Given the description of an element on the screen output the (x, y) to click on. 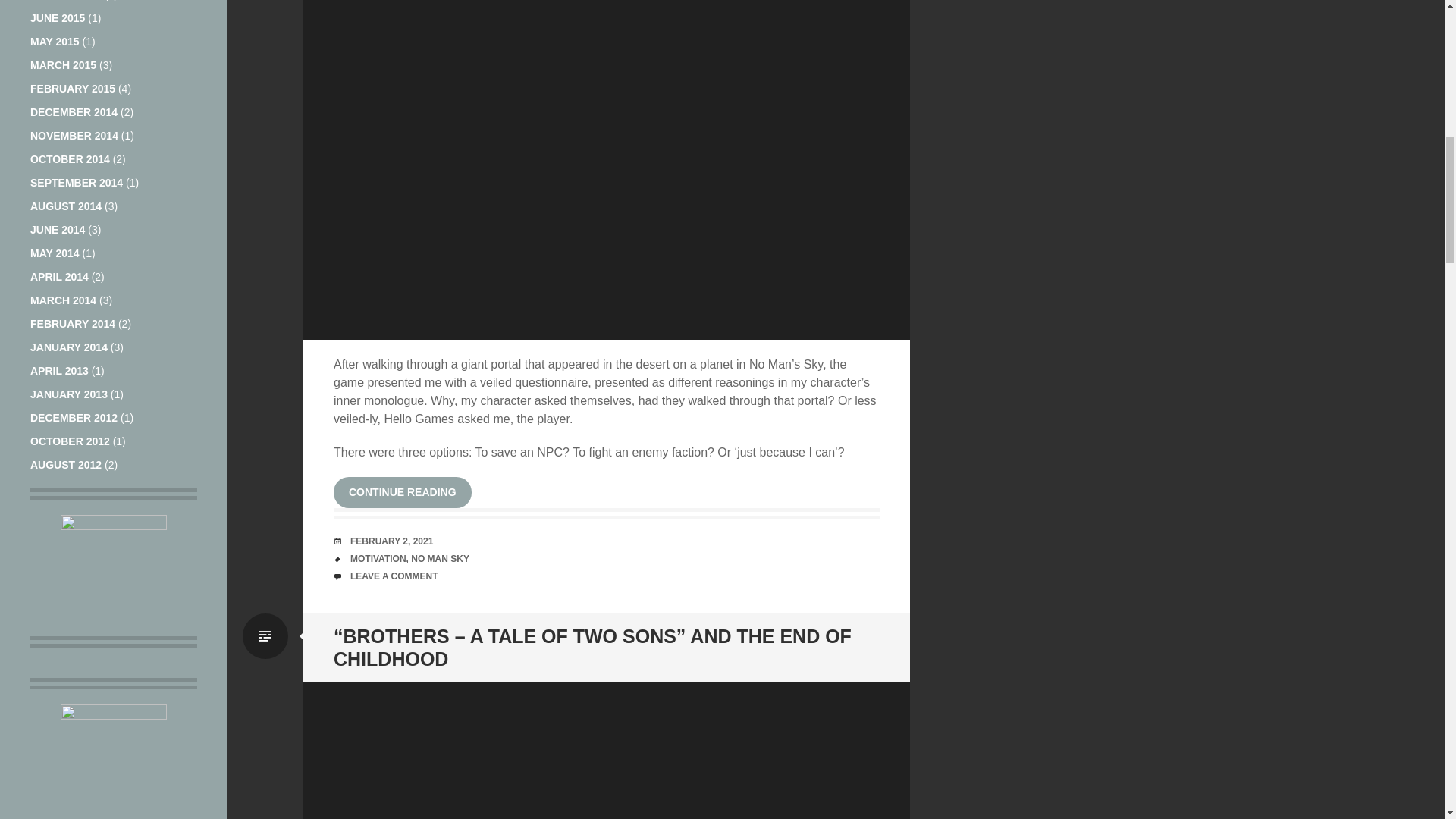
JANUARY 2013 (68, 394)
FEBRUARY 2014 (72, 323)
SEPTEMBER 2014 (76, 182)
JUNE 2014 (57, 229)
AUGUST 2014 (65, 205)
APRIL 2013 (59, 370)
DECEMBER 2014 (73, 111)
MARCH 2014 (63, 300)
AUGUST 2015 (65, 0)
OCTOBER 2012 (70, 440)
MARCH 2015 (63, 64)
FEBRUARY 2015 (72, 88)
10:55 am (391, 541)
NOVEMBER 2014 (73, 135)
OCTOBER 2014 (70, 159)
